Given the description of an element on the screen output the (x, y) to click on. 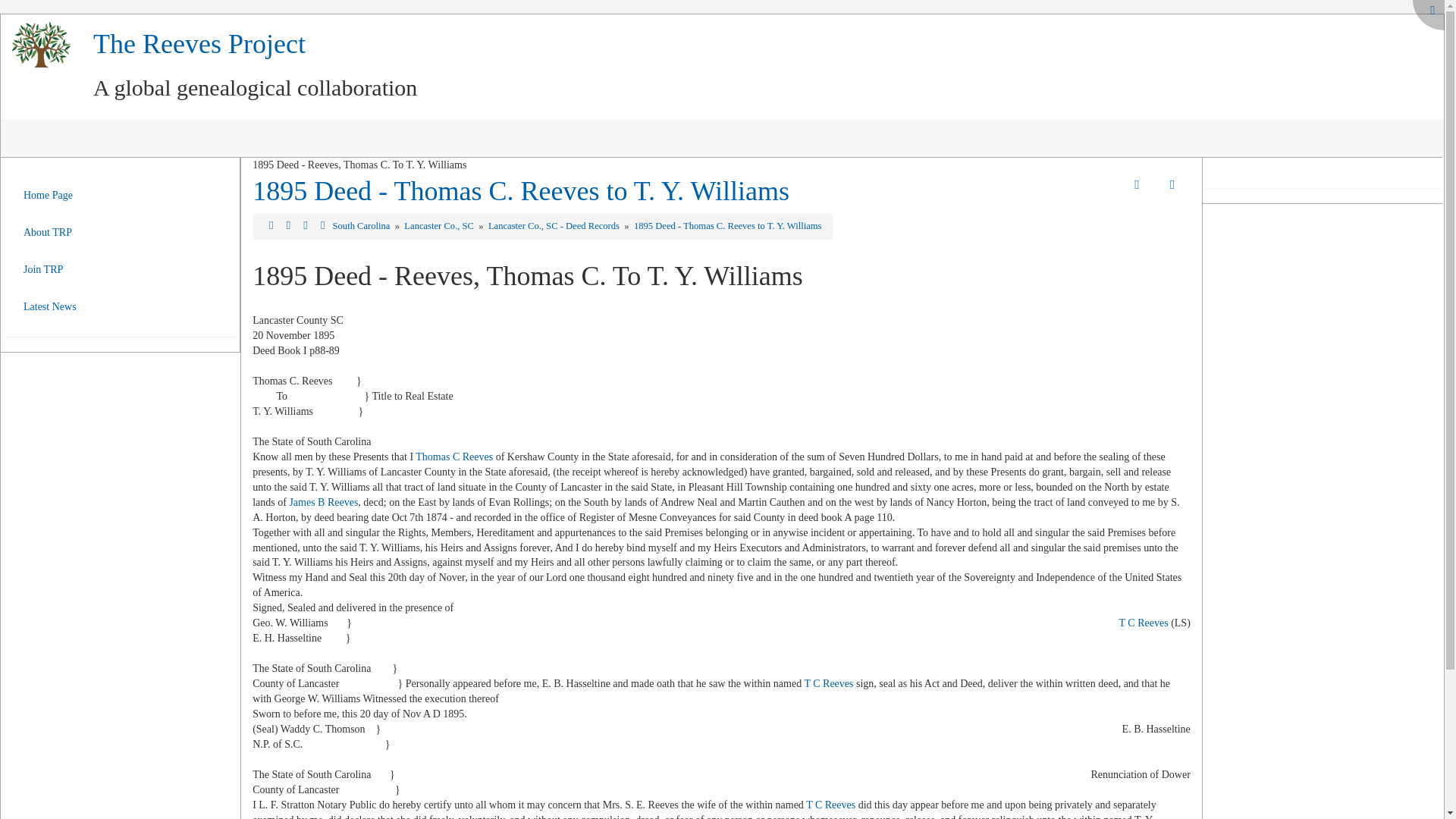
Previous page:1889 Deed - B. A. Hilton to E. J. Reeves (289, 225)
Fullscreen (1432, 10)
T C Reeves (1144, 622)
Home Page (49, 194)
Join TRP (49, 269)
T C Reeves (828, 683)
1895 Deed - Thomas C. Reeves to T. Y. Williams (727, 225)
Latest News (49, 306)
T C Reeves (831, 804)
Lancaster Co., SC (440, 225)
